Given the description of an element on the screen output the (x, y) to click on. 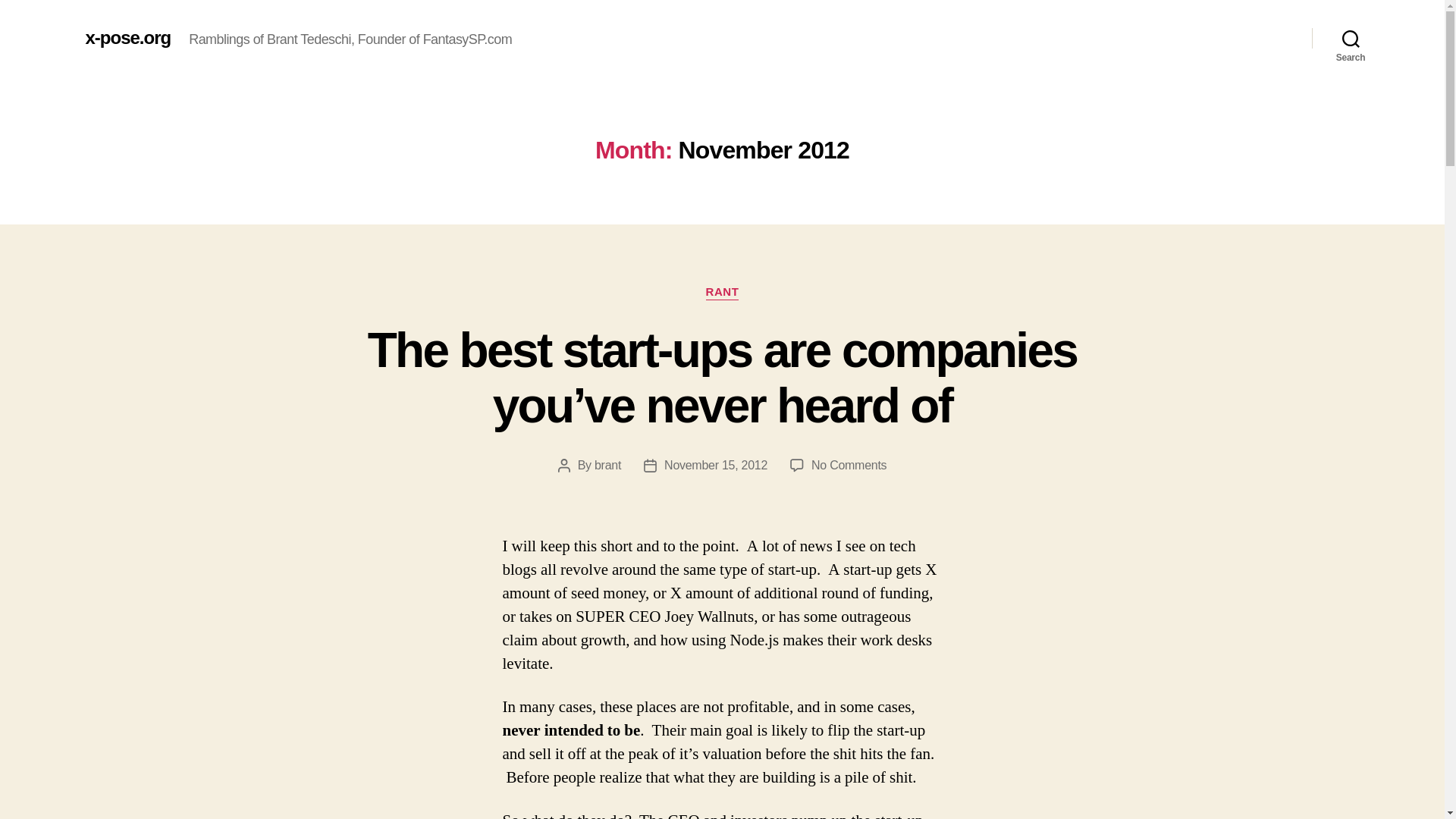
November 15, 2012 (715, 464)
RANT (722, 292)
brant (607, 464)
Search (1350, 37)
x-pose.org (127, 37)
